Given the description of an element on the screen output the (x, y) to click on. 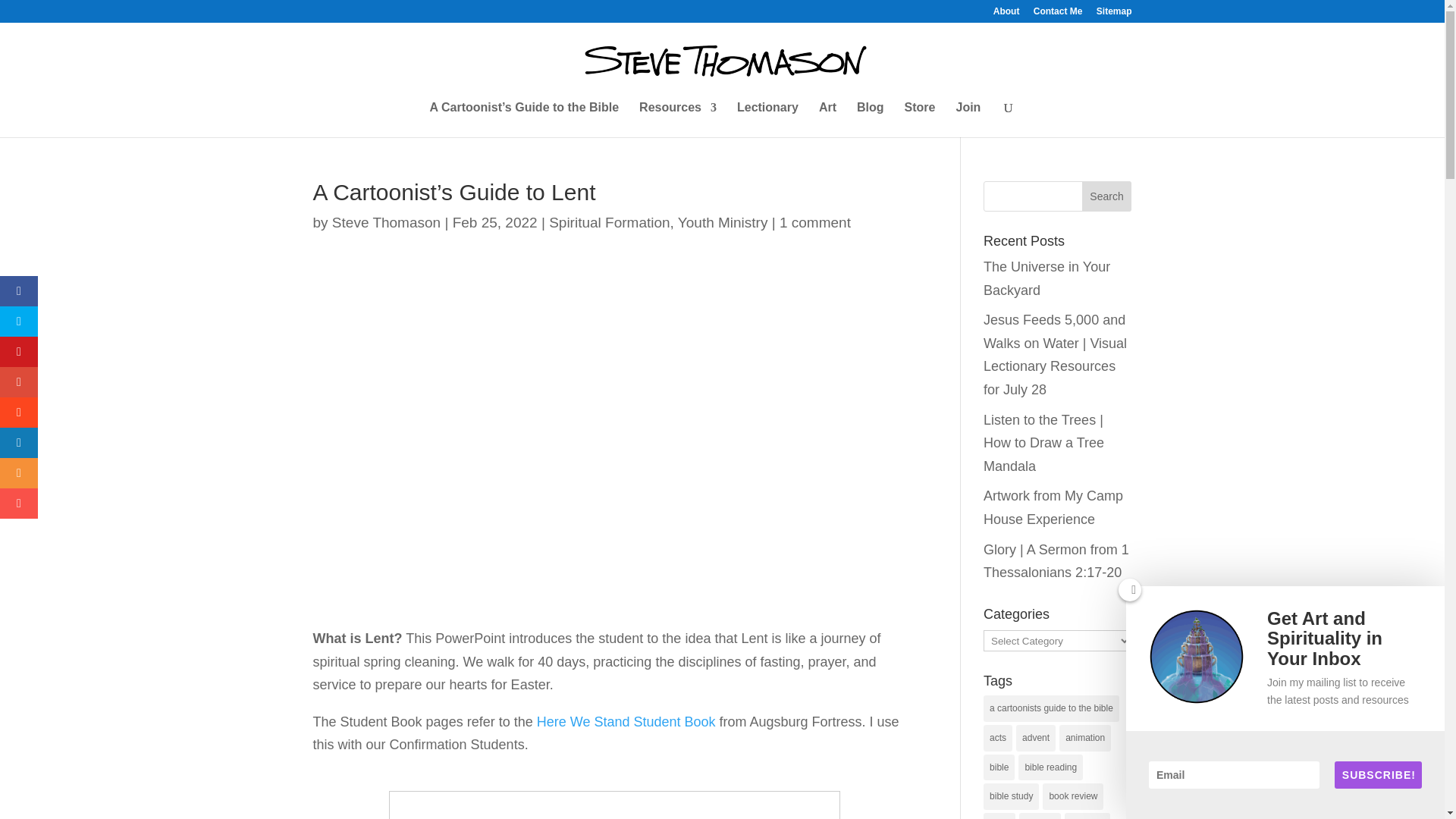
Store (920, 119)
Here We Stand Student Book (626, 721)
About (1006, 14)
Spiritual Formation (608, 222)
Contact Me (1058, 14)
Lectionary (766, 119)
Resources (677, 119)
Search (1106, 195)
Sitemap (1114, 14)
Steve Thomason (386, 222)
Posts by Steve Thomason (386, 222)
1 comment (814, 222)
Youth Ministry (723, 222)
